Given the description of an element on the screen output the (x, y) to click on. 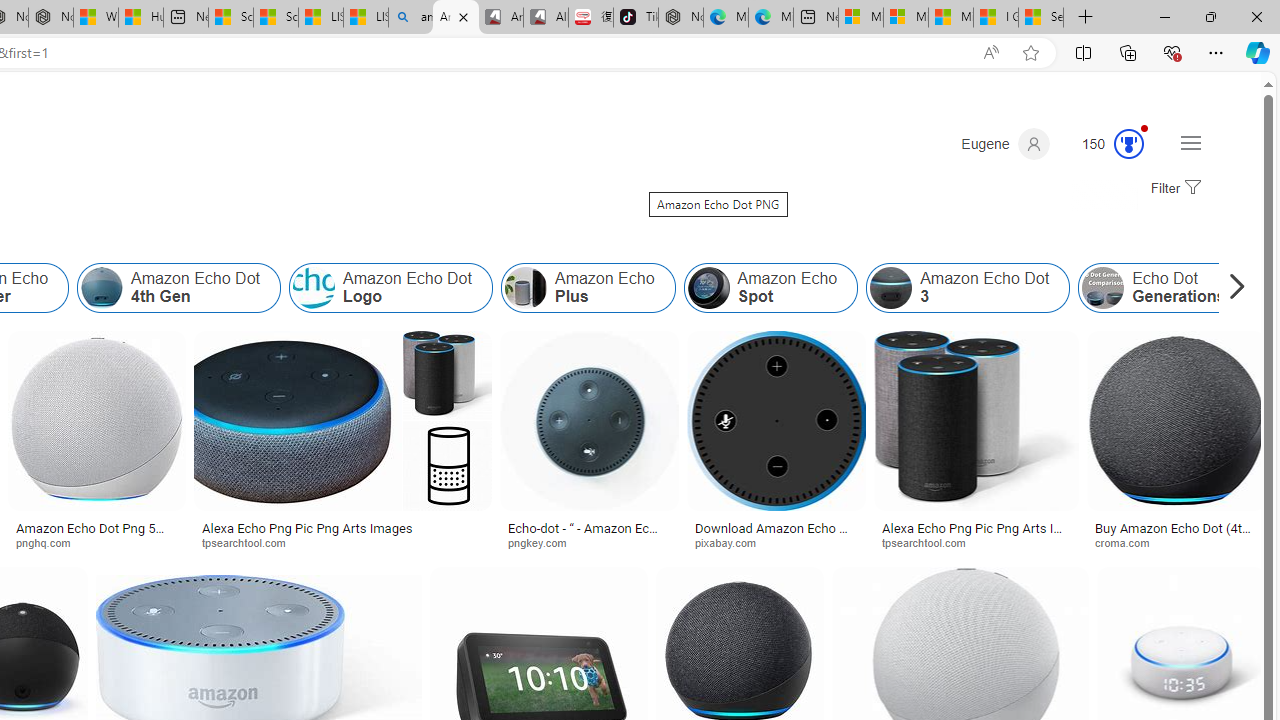
Amazon Echo Dot Logo (390, 287)
Amazon Echo Spot (708, 287)
Image result for Amazon Echo Dot PNG (1175, 421)
